Given the description of an element on the screen output the (x, y) to click on. 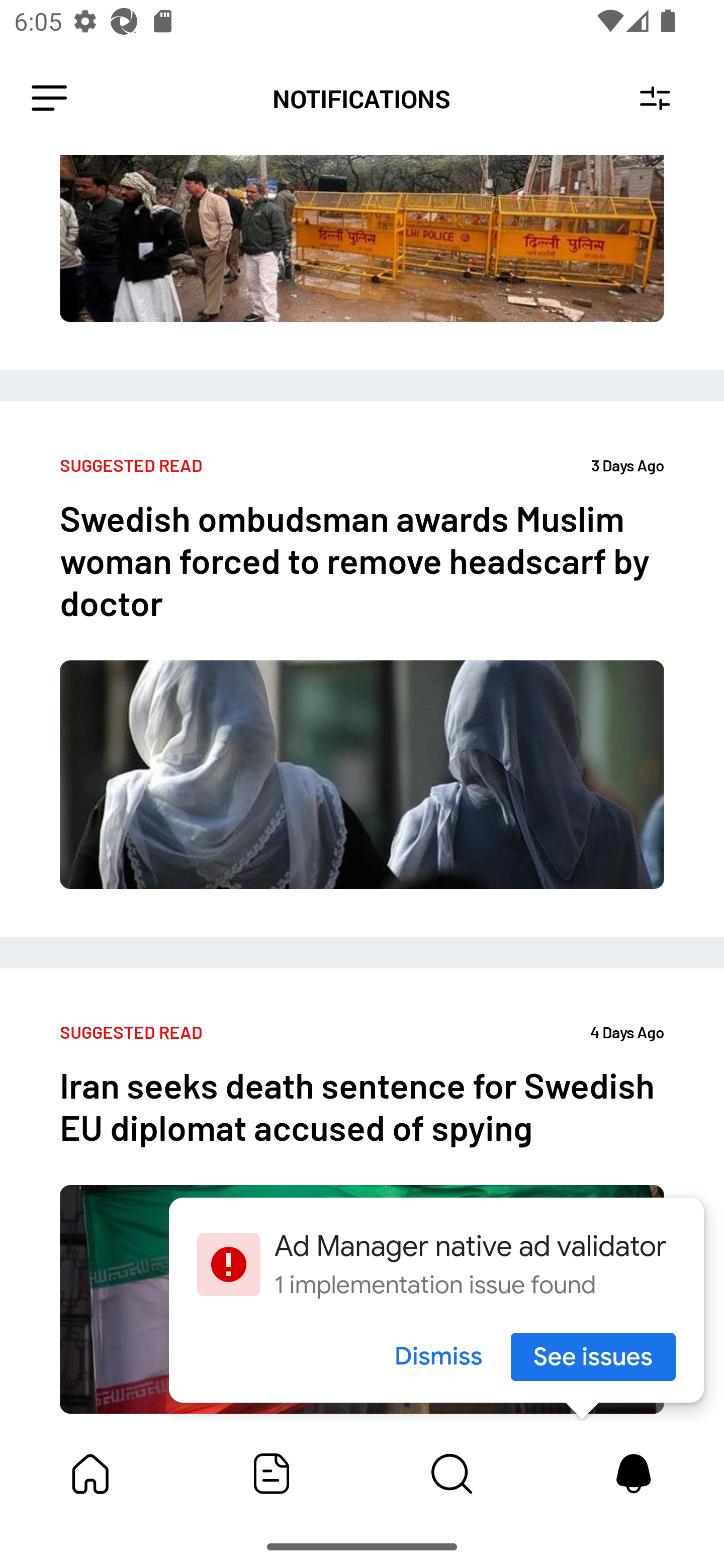
Leading Icon (49, 98)
Notification Settings (655, 98)
Image of the New (362, 262)
My Bundle (90, 1473)
Featured (271, 1473)
Content Store (452, 1473)
